Given the description of an element on the screen output the (x, y) to click on. 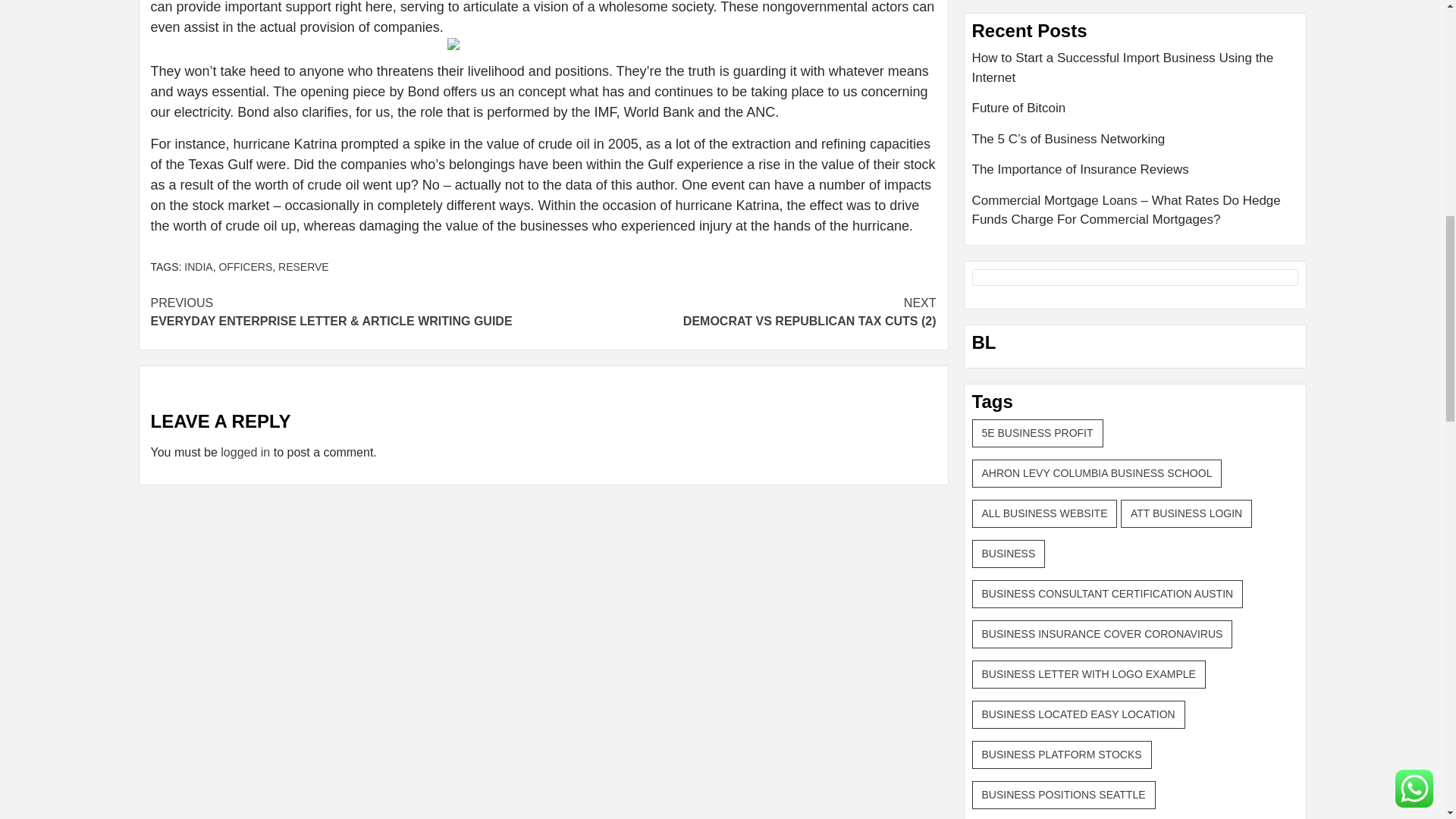
BUSINESS (1008, 553)
OFFICERS (245, 266)
How to Start a Successful Import Business Using the Internet (1135, 73)
AHRON LEVY COLUMBIA BUSINESS SCHOOL (1097, 473)
INDIA (198, 266)
logged in (245, 451)
The Importance of Insurance Reviews (1135, 174)
5E BUSINESS PROFIT (1037, 433)
ALL BUSINESS WEBSITE (1045, 513)
Future of Bitcoin (1135, 113)
